Given the description of an element on the screen output the (x, y) to click on. 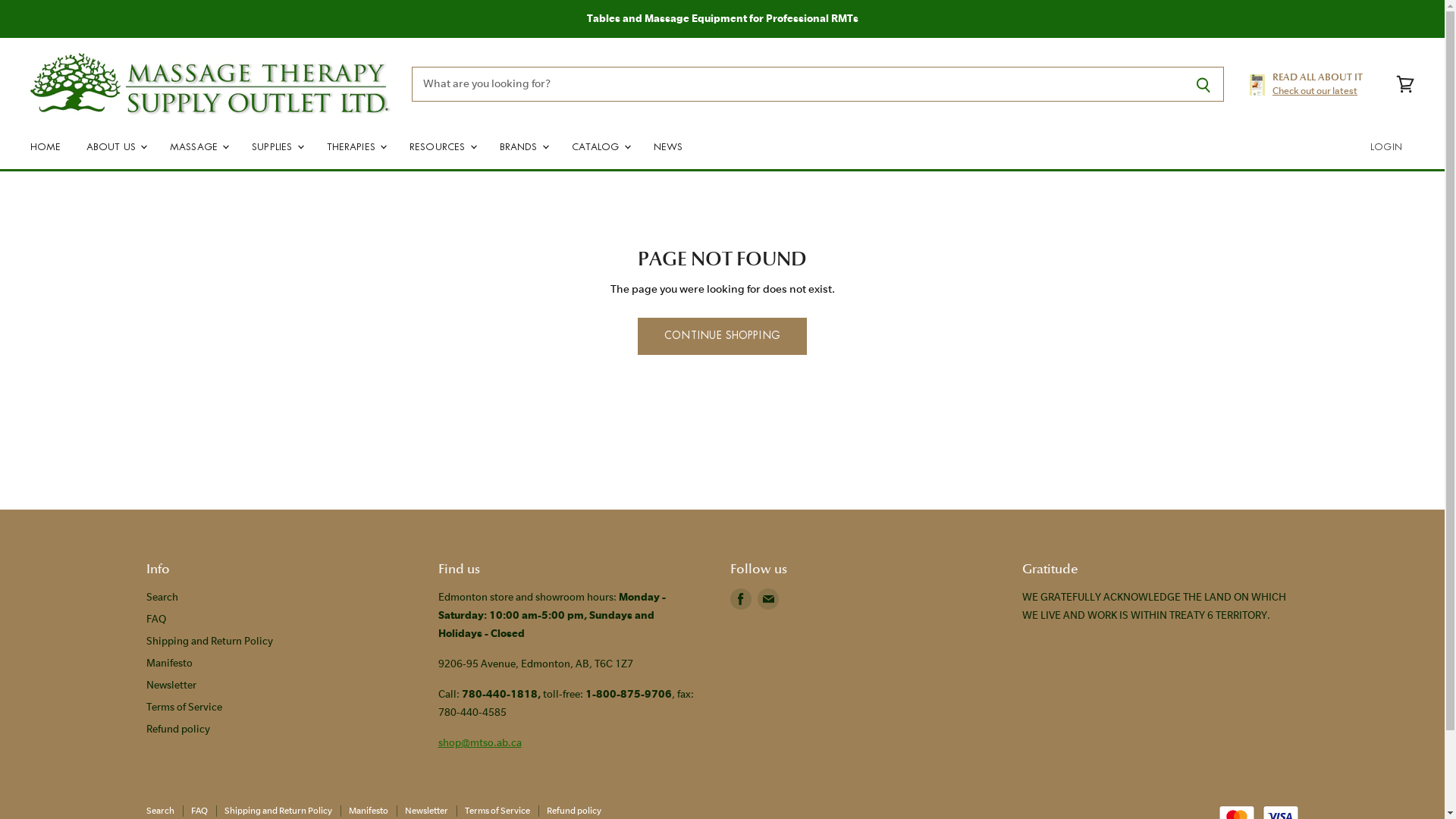
Shipping and Return Policy Element type: text (208, 640)
Newsletter Element type: text (426, 810)
Search Element type: text (159, 810)
BRANDS Element type: text (523, 146)
Find us on Facebook Element type: text (739, 598)
CATALOG Element type: text (600, 146)
FAQ Element type: text (199, 810)
HOME Element type: text (45, 146)
Terms of Service Element type: text (183, 706)
Check out our latest Element type: text (1314, 90)
Shipping and Return Policy Element type: text (278, 810)
THERAPIES Element type: text (355, 146)
MASSAGE Element type: text (198, 146)
Manifesto Element type: text (368, 810)
View cart Element type: text (1404, 84)
FAQ Element type: text (155, 618)
Find us on E-mail Element type: text (767, 598)
ABOUT US Element type: text (115, 146)
CONTINUE SHOPPING Element type: text (721, 335)
Terms of Service Element type: text (496, 810)
Search Element type: text (161, 596)
SUPPLIES Element type: text (276, 146)
shop@mtso.ab.ca Element type: text (479, 742)
Manifesto Element type: text (168, 662)
NEWS Element type: text (668, 146)
Refund policy Element type: text (573, 810)
LOGIN Element type: text (1386, 146)
RESOURCES Element type: text (442, 146)
Newsletter Element type: text (170, 684)
Refund policy Element type: text (177, 728)
